Given the description of an element on the screen output the (x, y) to click on. 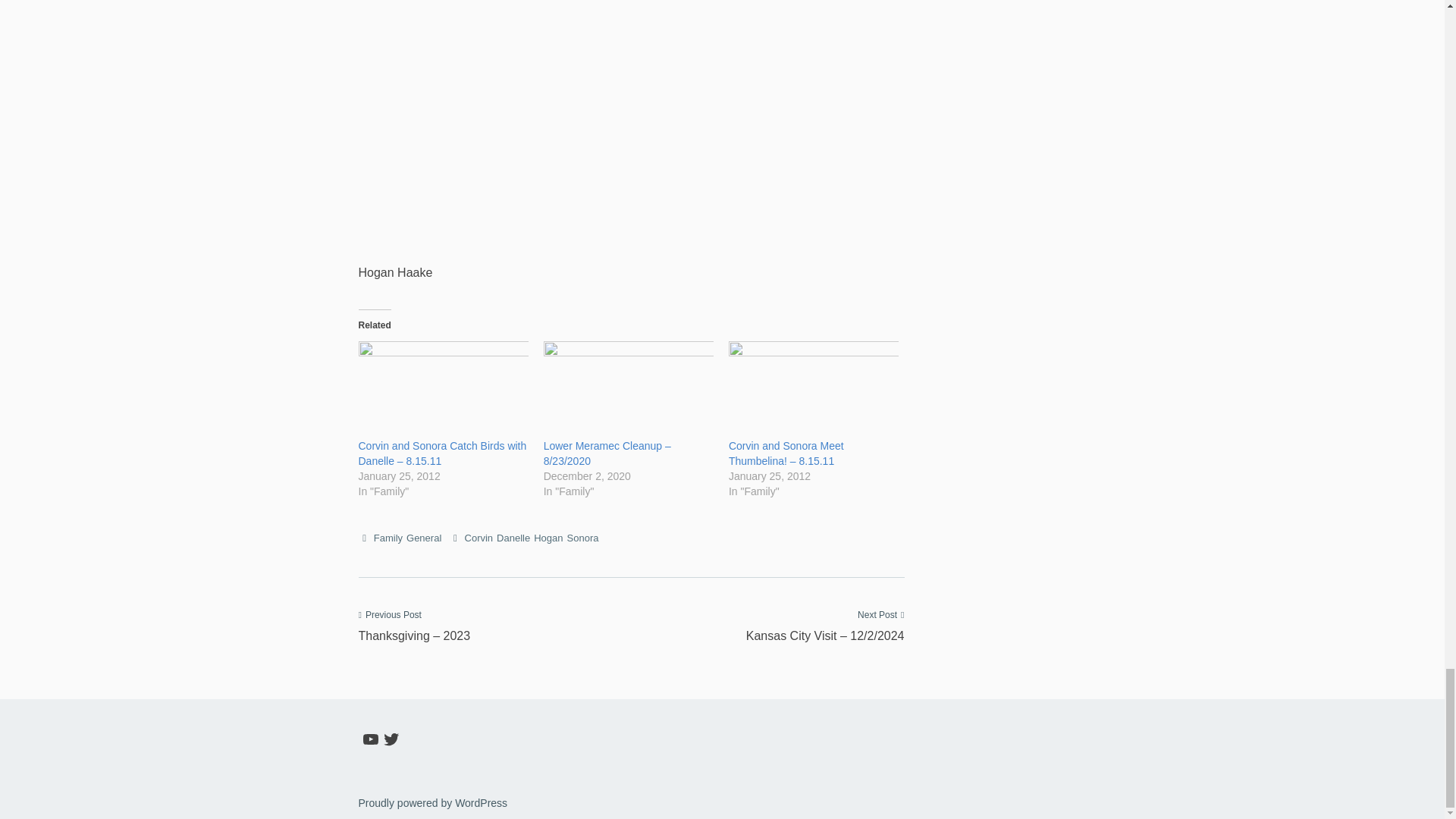
Family (388, 538)
Hogan (548, 538)
Corvin (478, 538)
General (423, 538)
Danelle (512, 538)
Sonora (582, 538)
